Given the description of an element on the screen output the (x, y) to click on. 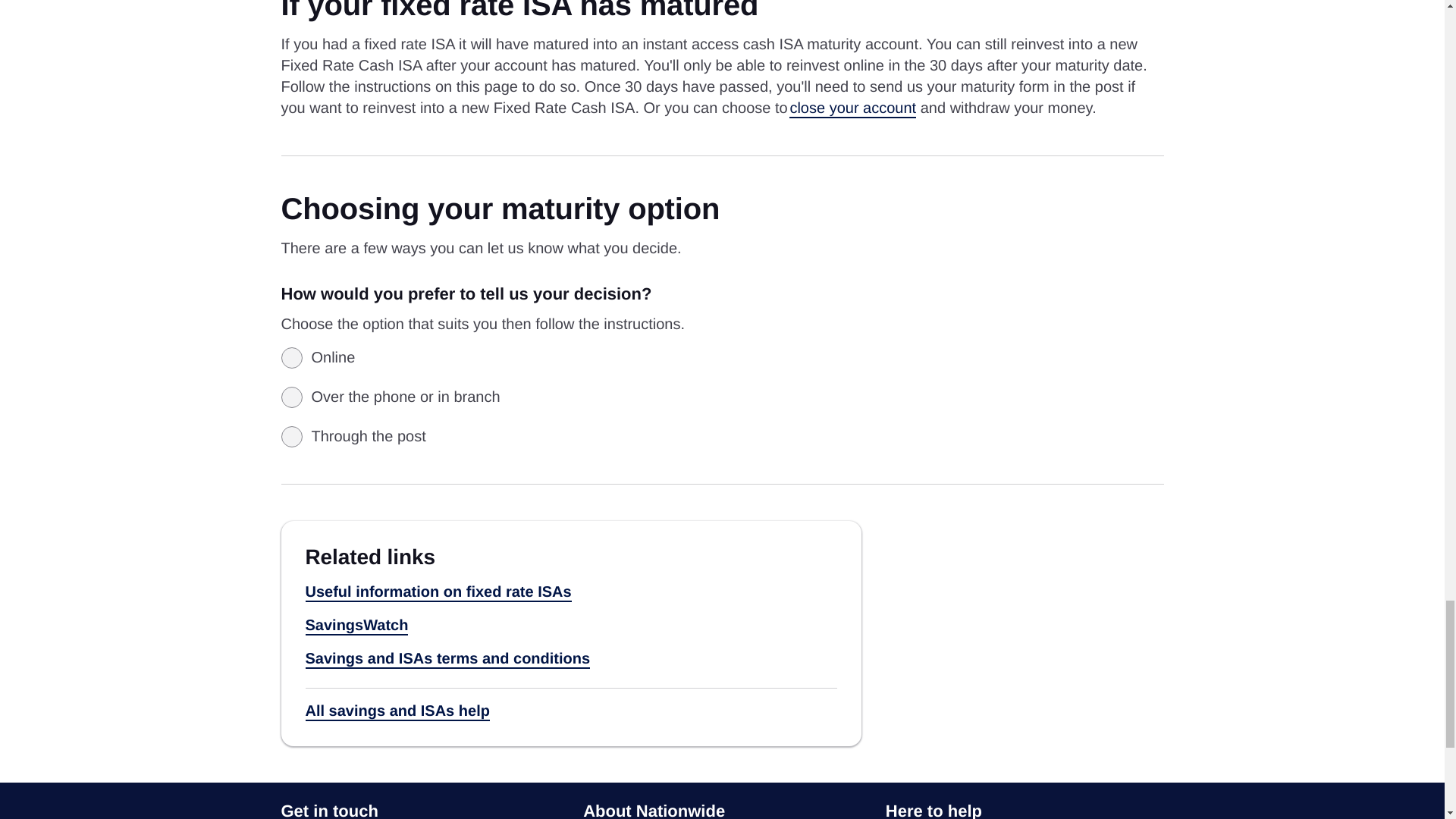
SavingsWatch (355, 626)
All savings and ISAs help (396, 711)
Savings and ISAs terms and conditions (446, 659)
close your account (852, 108)
Useful information on fixed rate ISAs (437, 592)
